Given the description of an element on the screen output the (x, y) to click on. 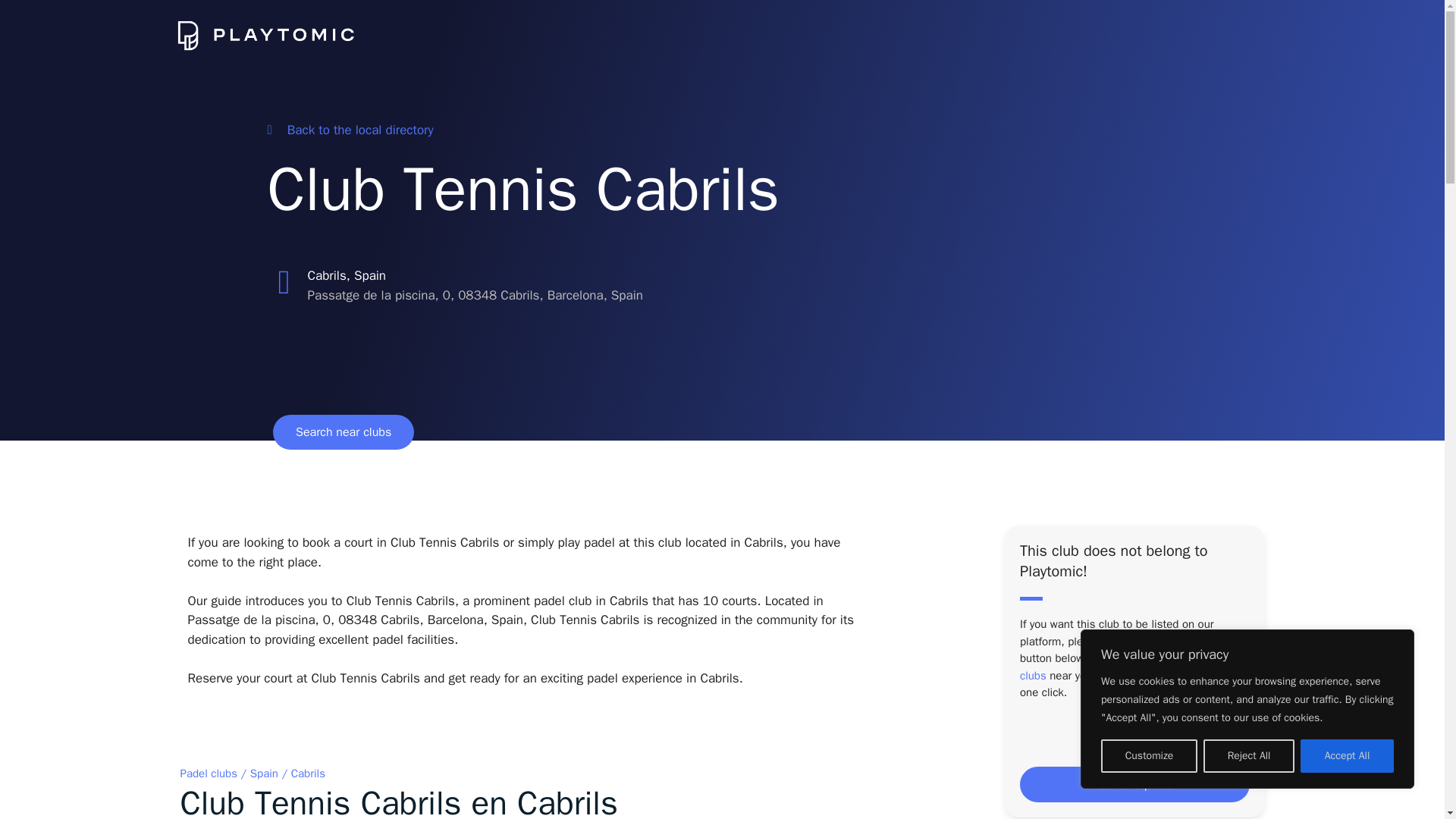
Send request (1134, 784)
Cabrils (307, 773)
Reject All (1249, 756)
Spain (264, 773)
Customize (1148, 756)
Accept All (1346, 756)
search for other clubs (1128, 666)
Padel clubs (208, 773)
Back to the local directory (349, 130)
Search near clubs (343, 431)
